Given the description of an element on the screen output the (x, y) to click on. 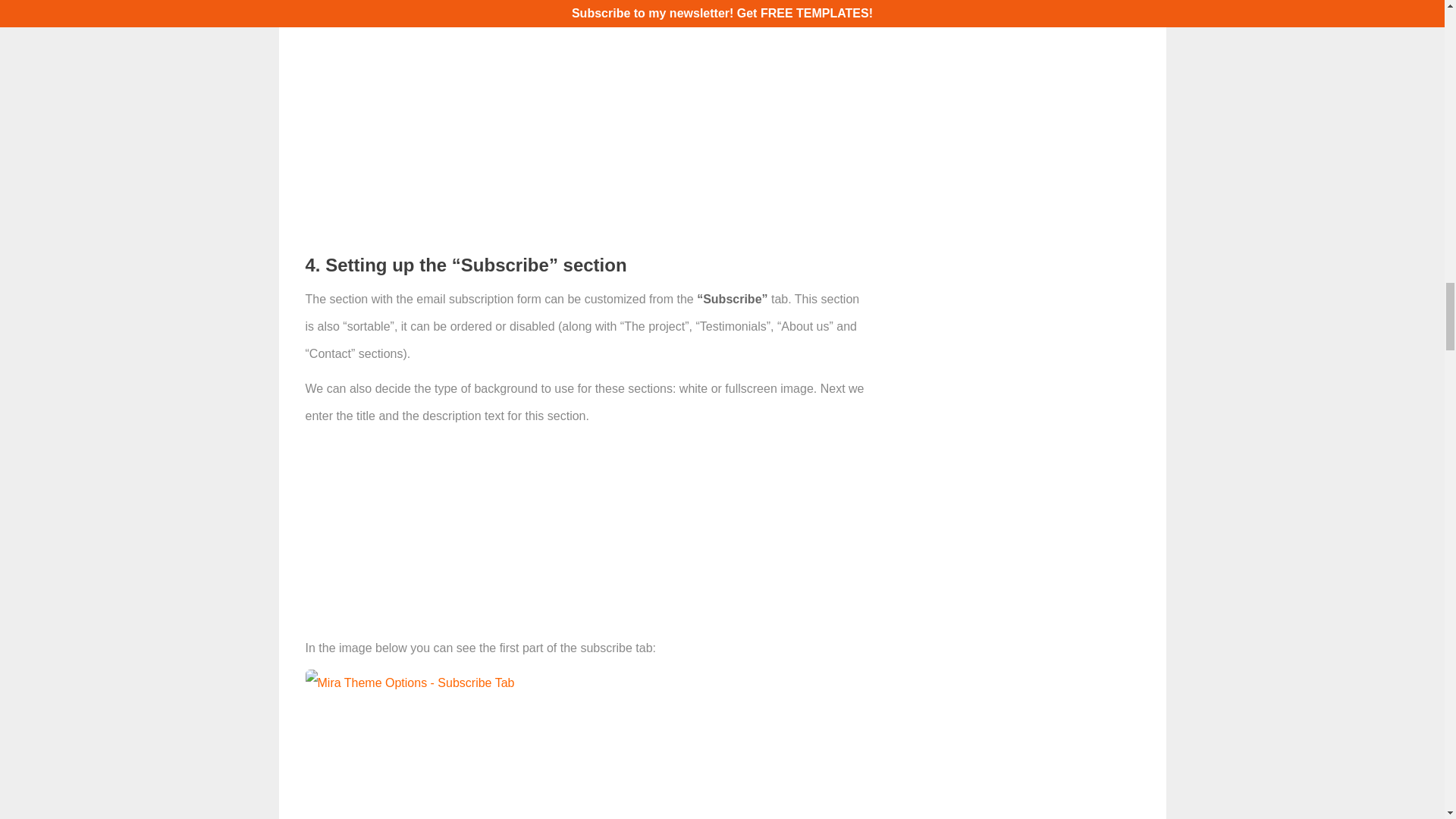
Mira Theme Options - Coming Soon Tab (419, 18)
Mira Theme Options - Subscribe Tab (408, 682)
